Given the description of an element on the screen output the (x, y) to click on. 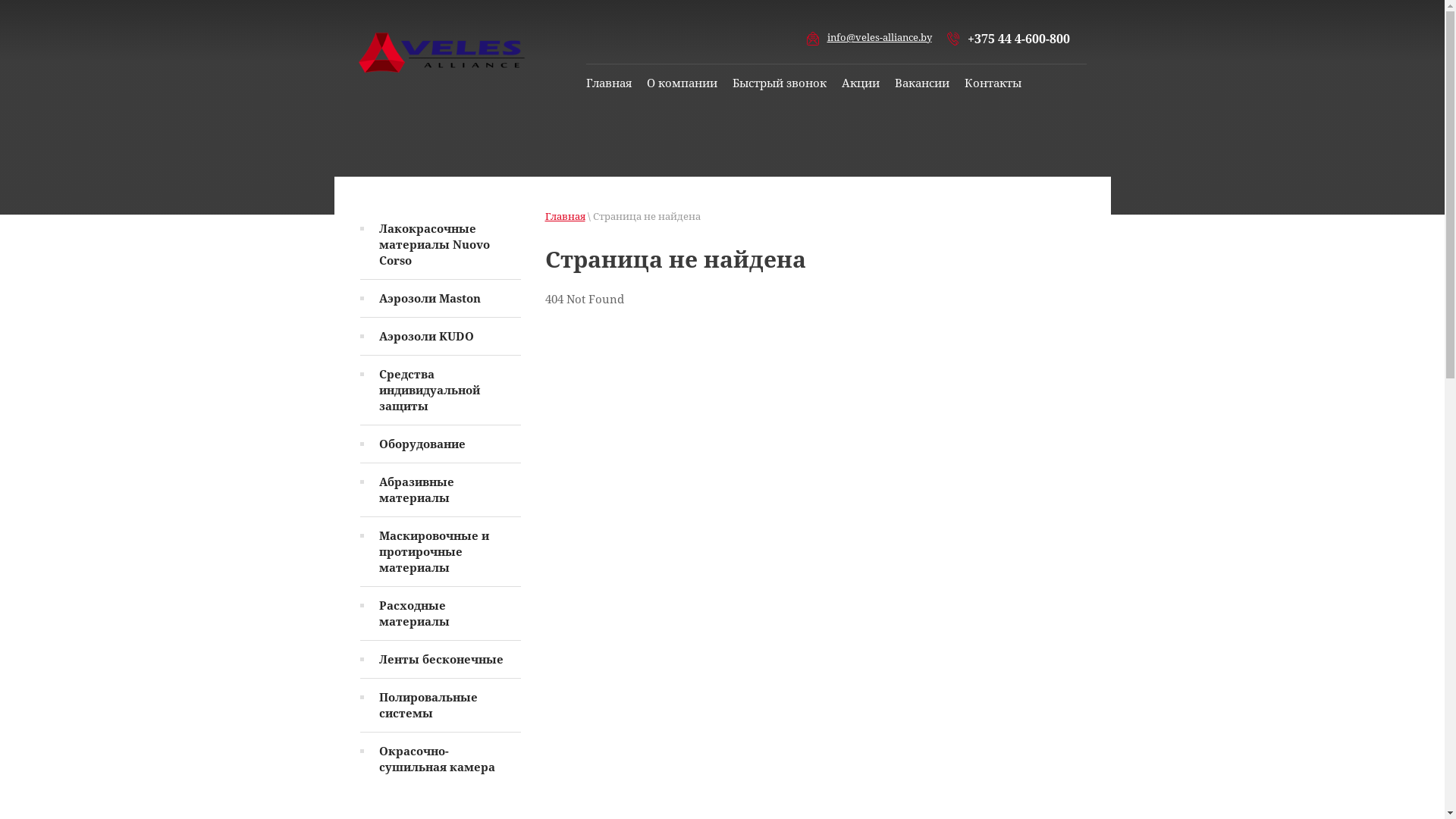
+375 44 4-600-800 Element type: text (1018, 38)
info@veles-alliance.by Element type: text (878, 36)
